Given the description of an element on the screen output the (x, y) to click on. 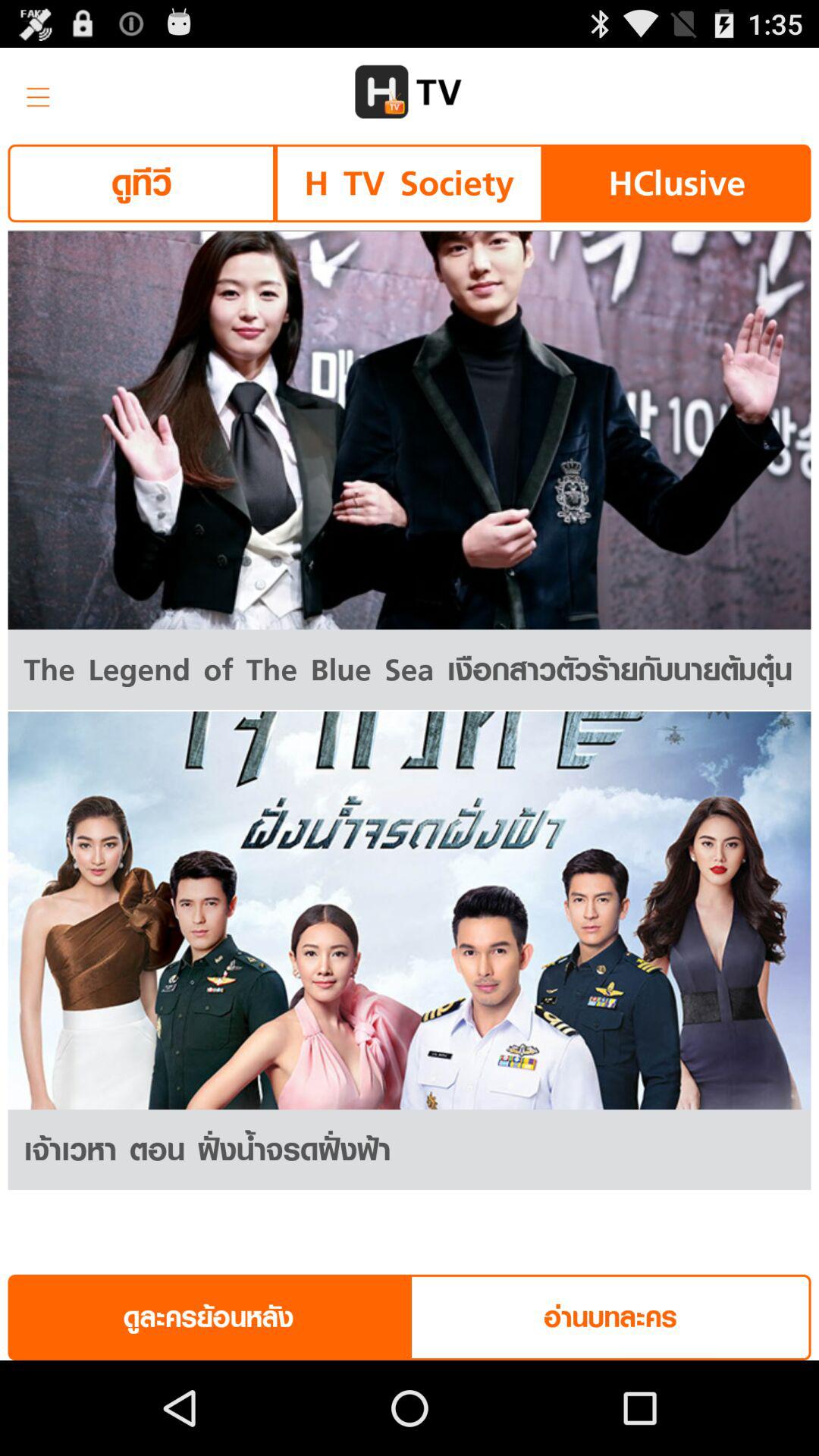
open icon next to h tv society item (141, 183)
